Given the description of an element on the screen output the (x, y) to click on. 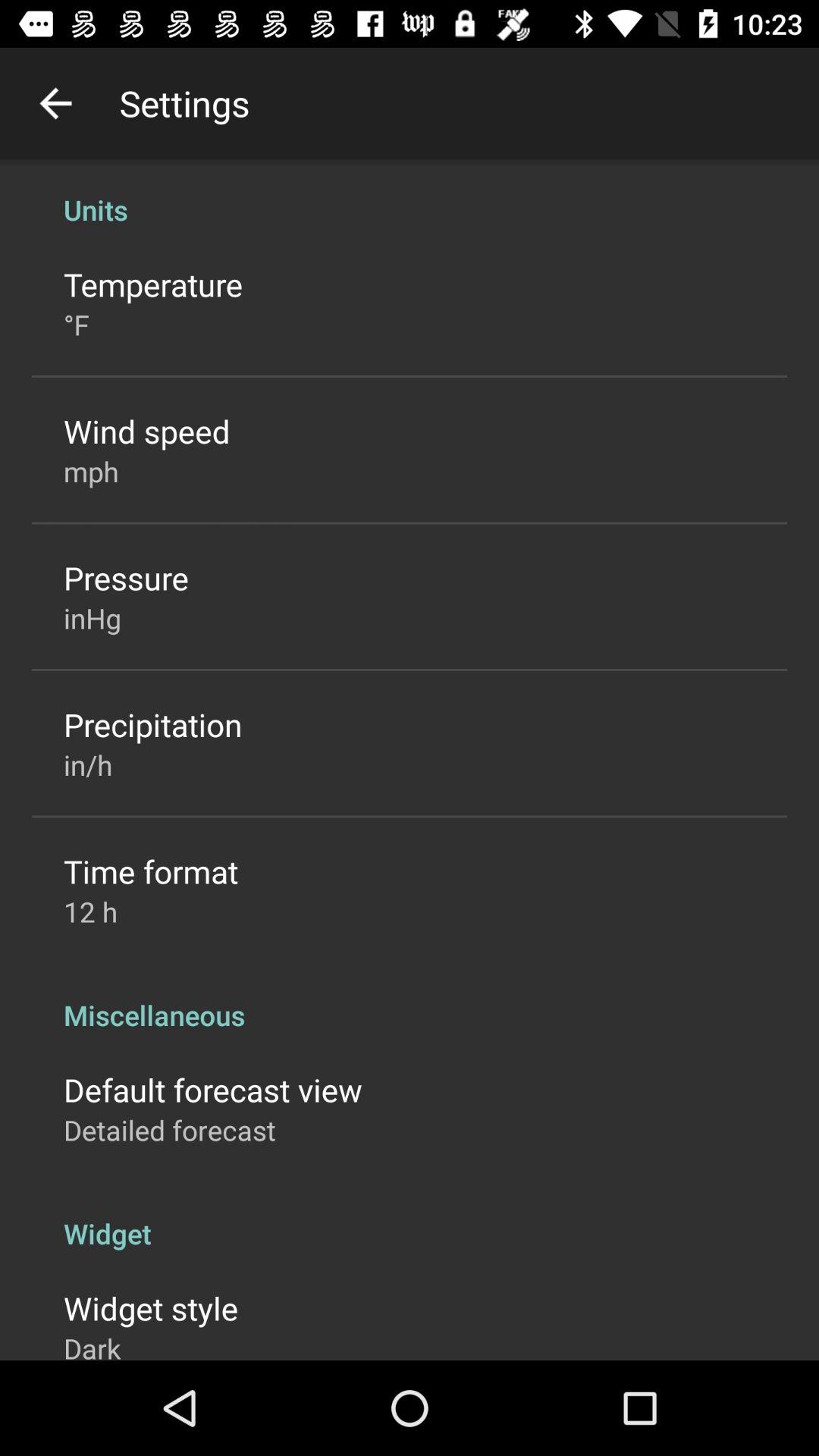
tap the icon above the dark icon (150, 1307)
